Given the description of an element on the screen output the (x, y) to click on. 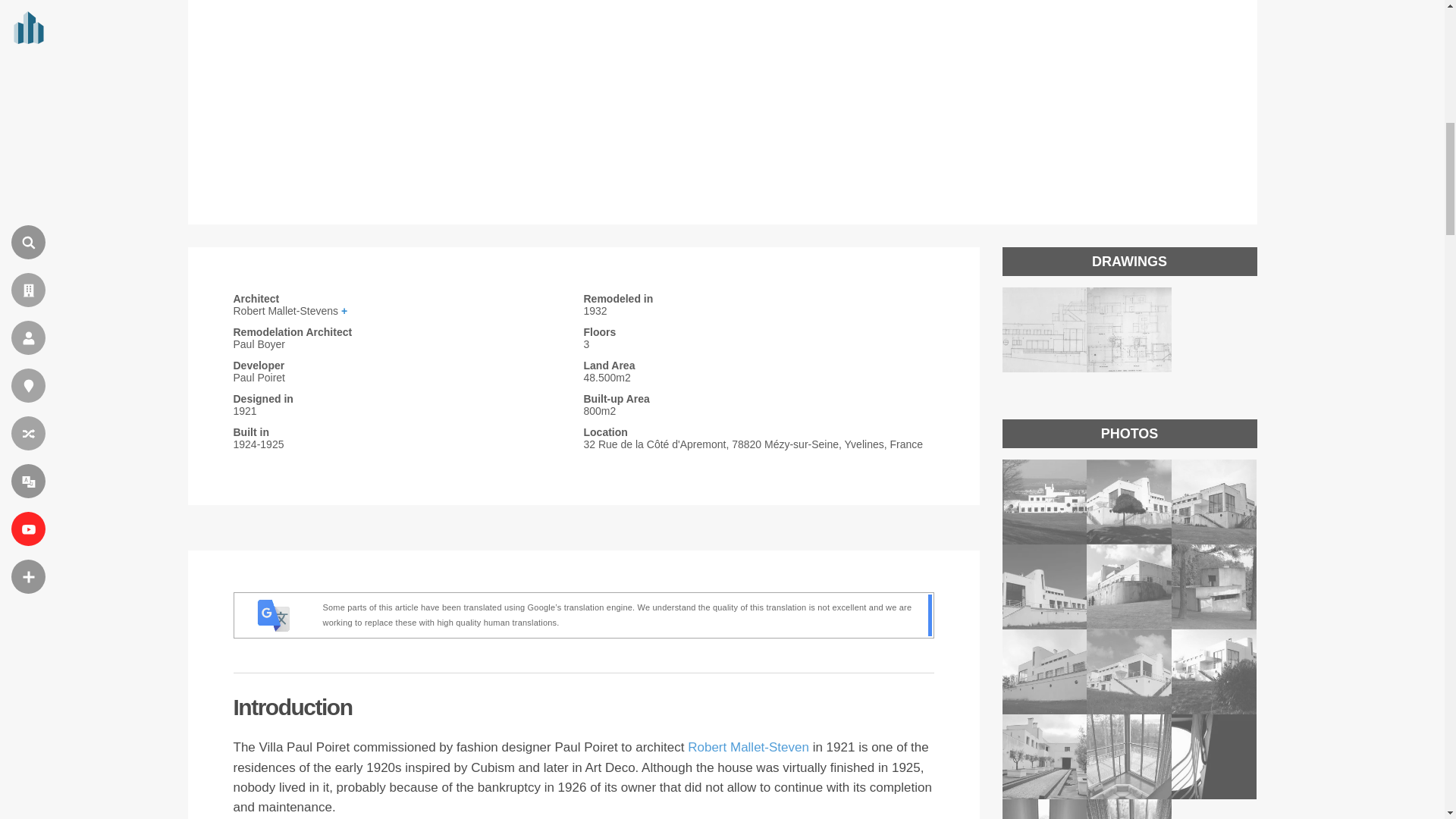
Robert Mallet-Stevens (407, 310)
Robert Mallet-Steven (748, 747)
